Given the description of an element on the screen output the (x, y) to click on. 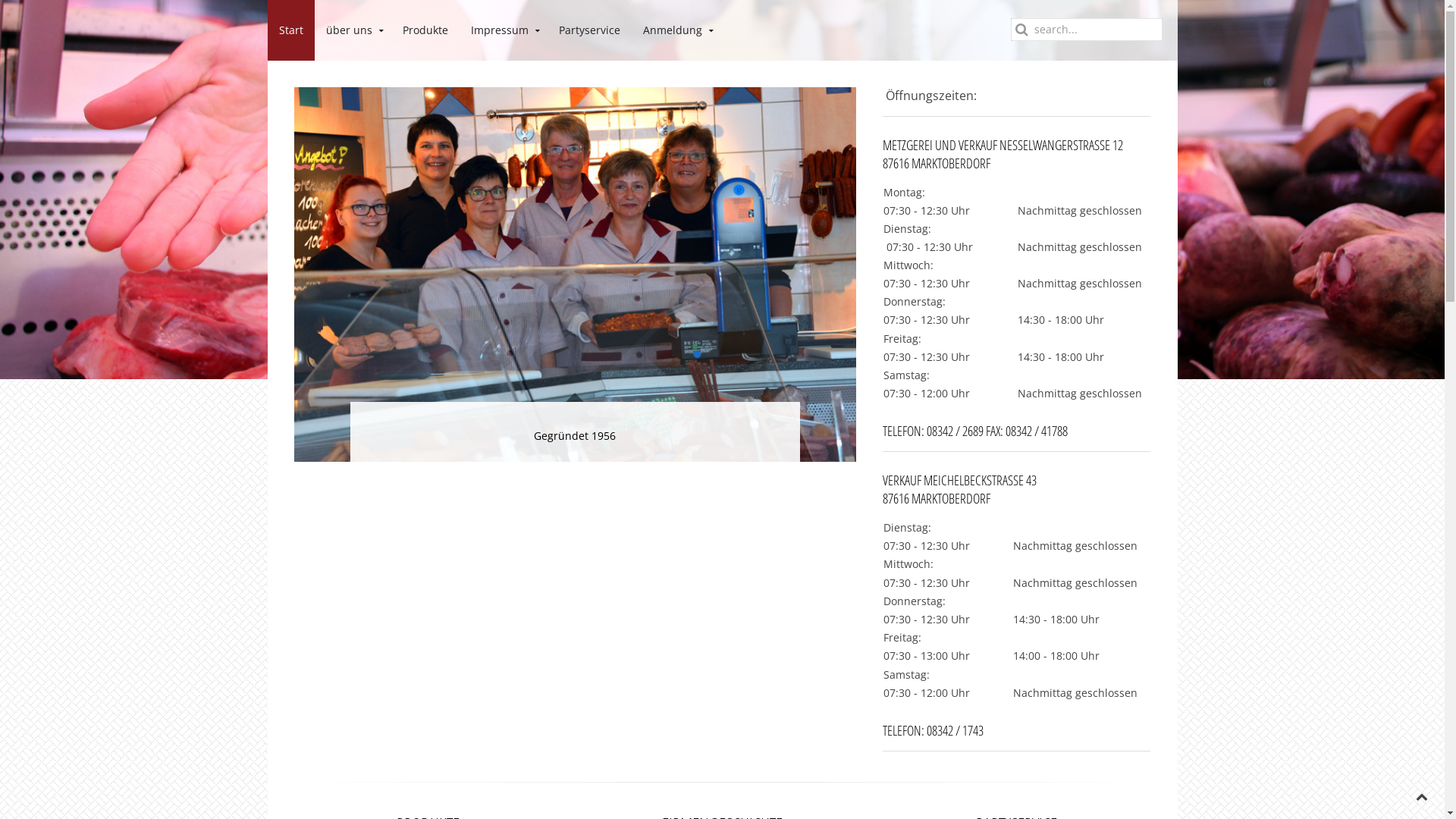
Start Element type: text (289, 30)
Produkte Element type: text (425, 30)
Impressum Element type: text (503, 30)
Anmeldung Element type: text (675, 30)
Partyservice Element type: text (589, 30)
